Given the description of an element on the screen output the (x, y) to click on. 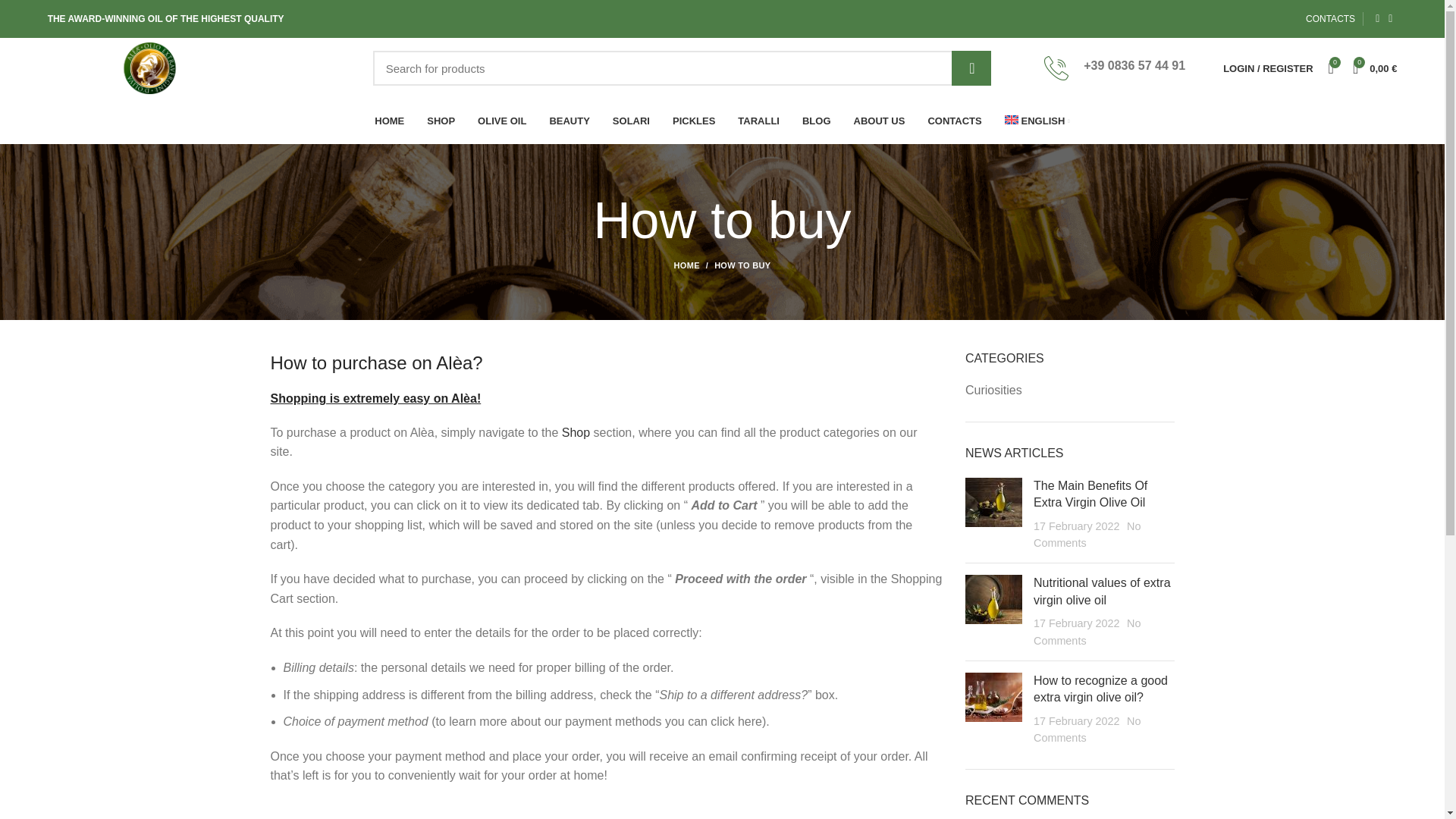
ABOUT US (880, 121)
HOME (388, 121)
call (1055, 68)
Nutritional values of extra virgin olive oil (1101, 591)
ENGLISH (1036, 121)
Shop (575, 431)
Permalink to Nutritional values of extra virgin olive oil (1101, 591)
BEAUTY (568, 121)
OLIVE OIL (501, 121)
My account (1267, 68)
